Given the description of an element on the screen output the (x, y) to click on. 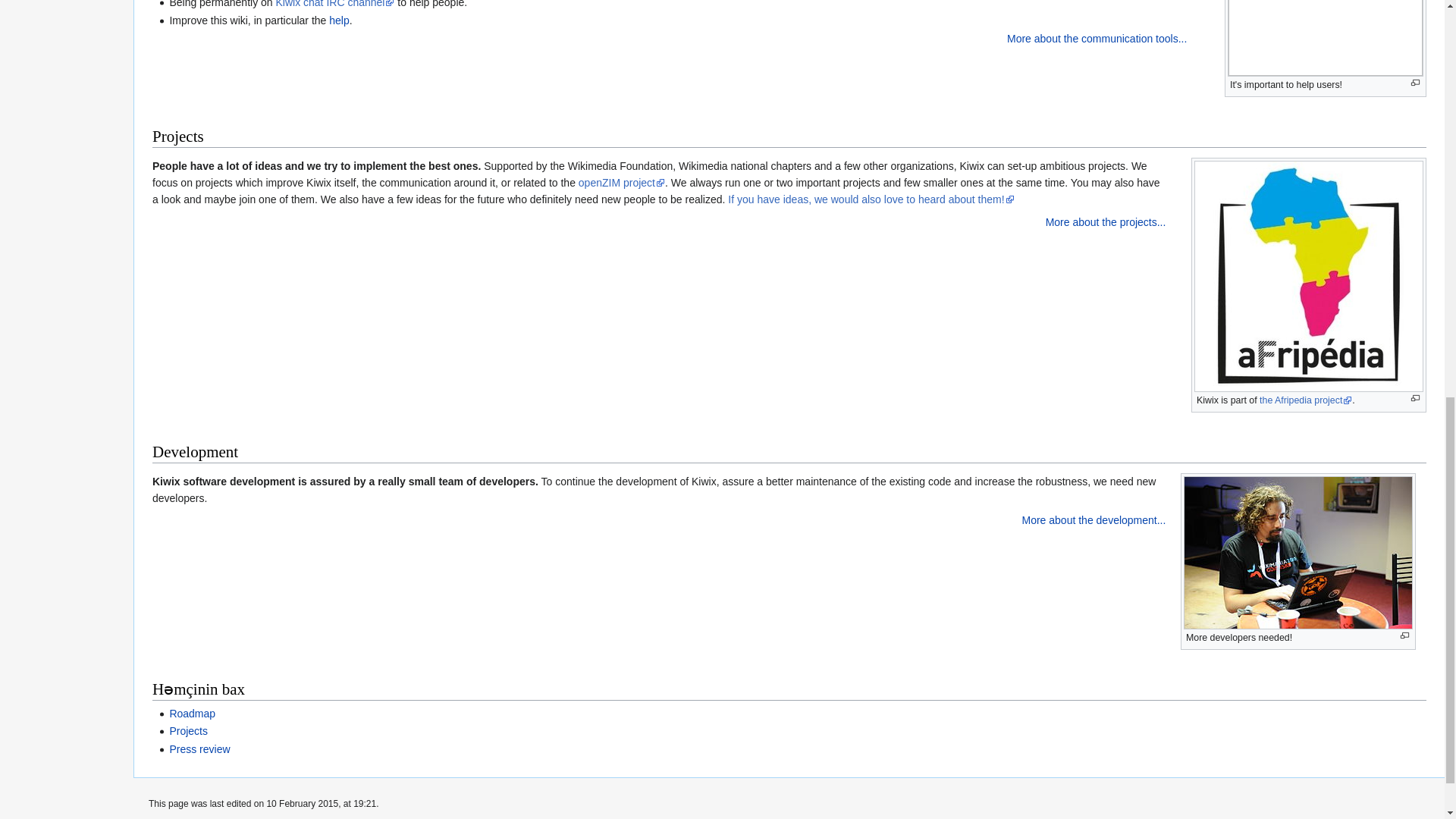
help (339, 20)
More about the communication tools... (1096, 38)
Kiwix chat IRC channel (334, 4)
openZIM project (621, 182)
If you have ideas, we would also love to heard about them! (870, 199)
